Given the description of an element on the screen output the (x, y) to click on. 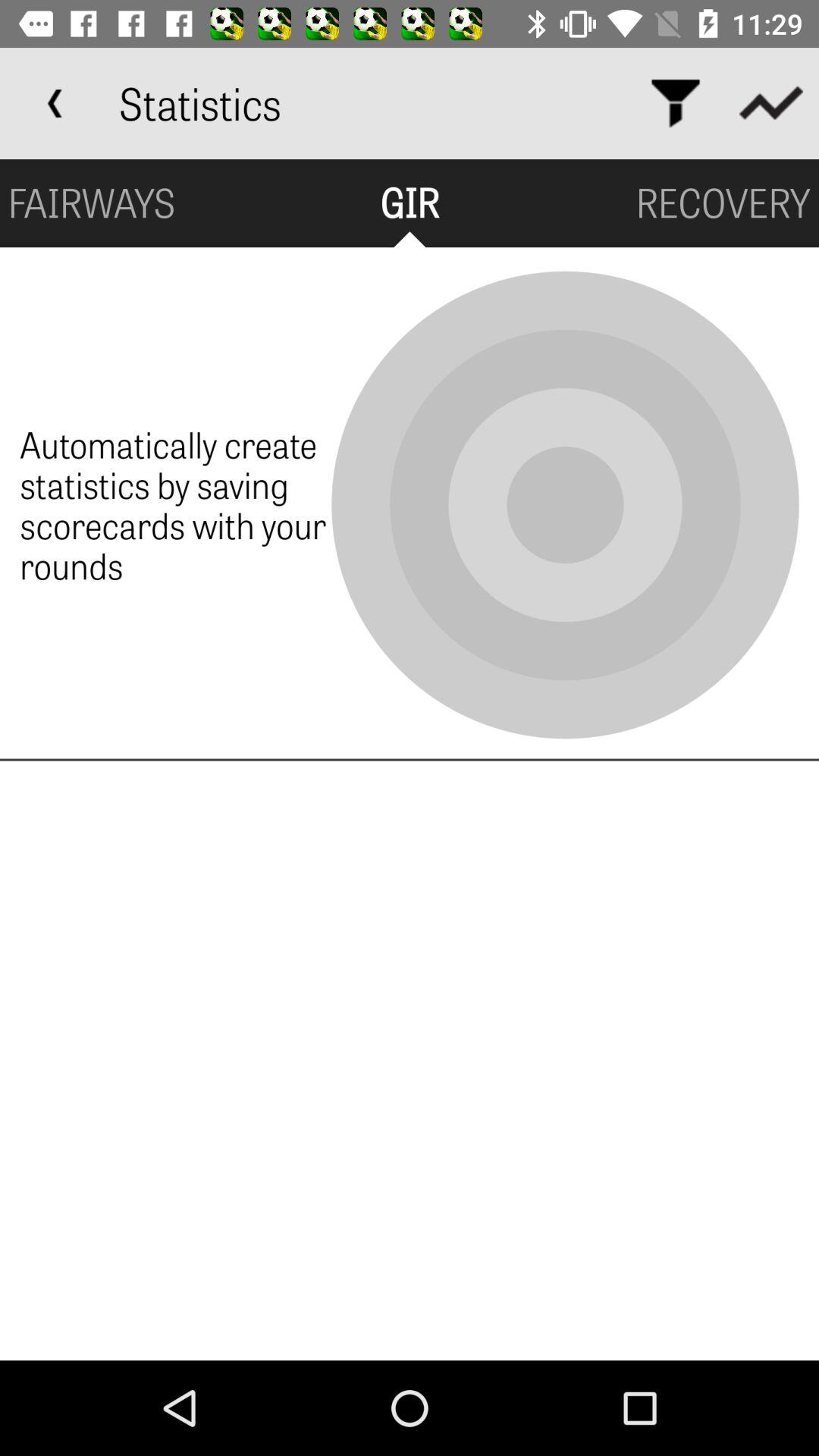
turn off app to the left of statistics icon (55, 103)
